Given the description of an element on the screen output the (x, y) to click on. 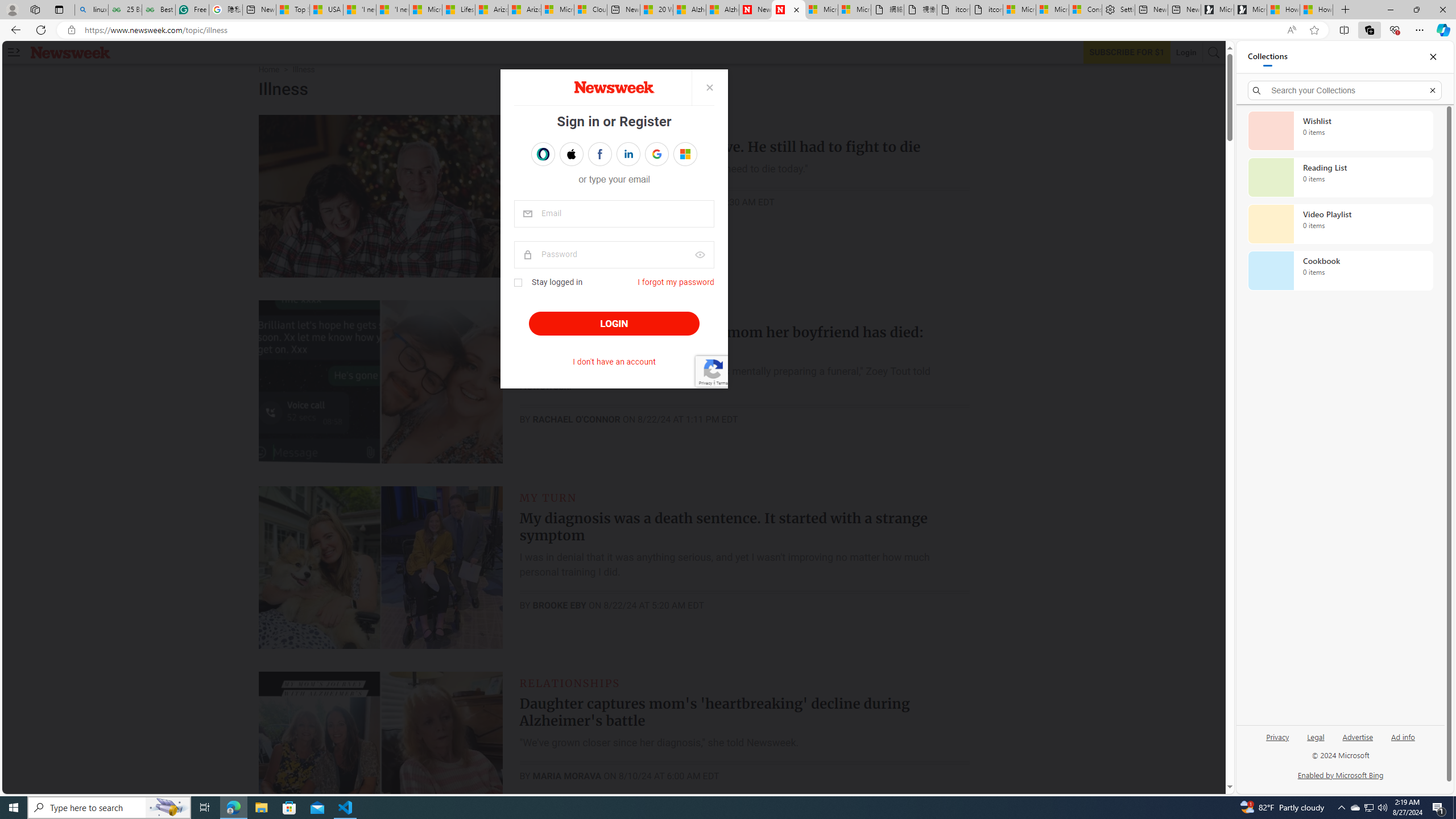
I forgot my password (675, 282)
Video Playlist collection, 0 items (1339, 223)
Terms (721, 382)
Free AI Writing Assistance for Students | Grammarly (192, 9)
Sign in with FACEBOOK (599, 154)
How to Use a TV as a Computer Monitor (1316, 9)
Lifestyle - MSN (458, 9)
Cloud Computing Services | Microsoft Azure (590, 9)
Subscribe to our service (1126, 52)
